Given the description of an element on the screen output the (x, y) to click on. 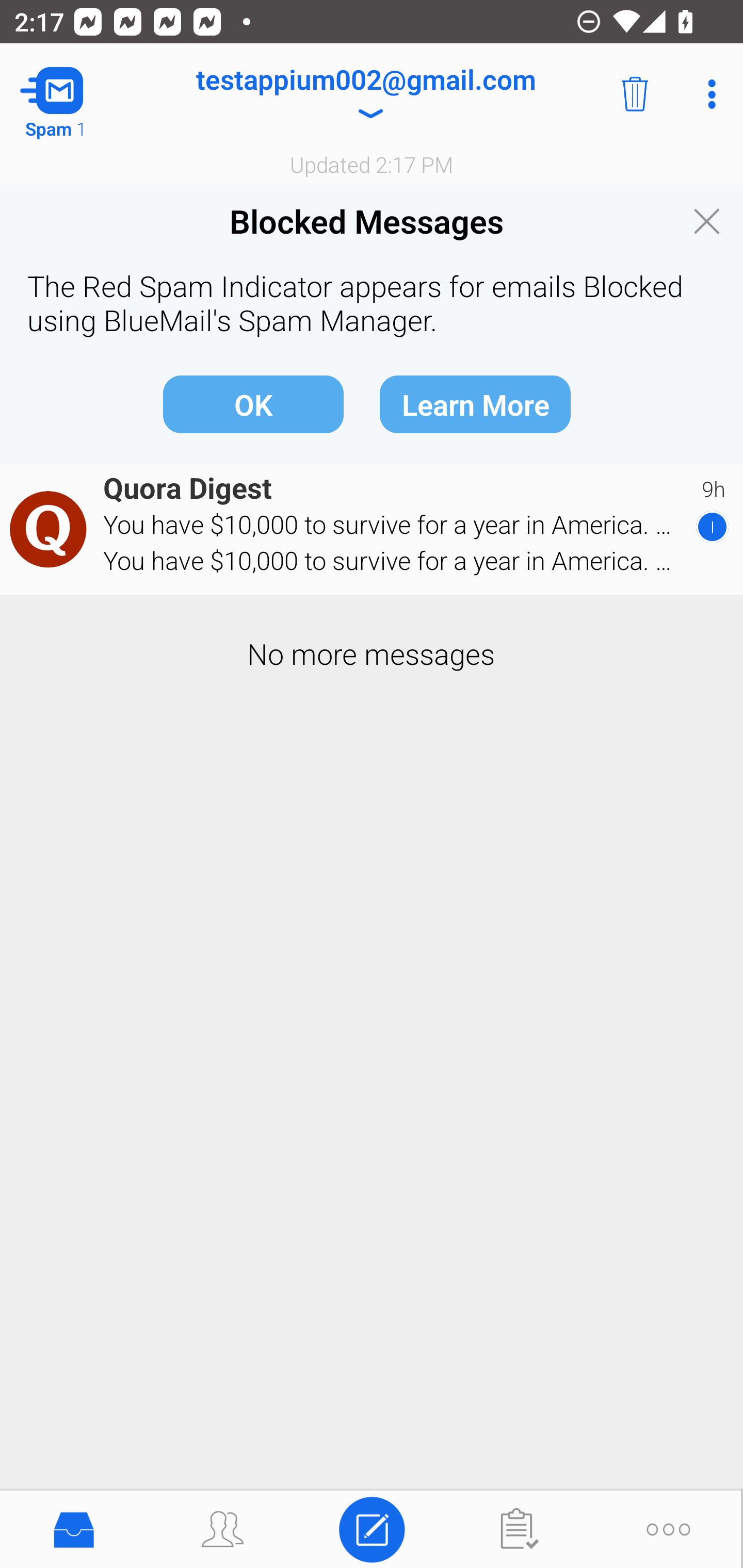
Navigate up (81, 93)
testappium002@gmail.com (365, 93)
Delete All (634, 93)
More Options (706, 93)
Updated 2:17 PM (371, 164)
OK (252, 403)
Learn More (474, 403)
Contact Details (50, 529)
